Given the description of an element on the screen output the (x, y) to click on. 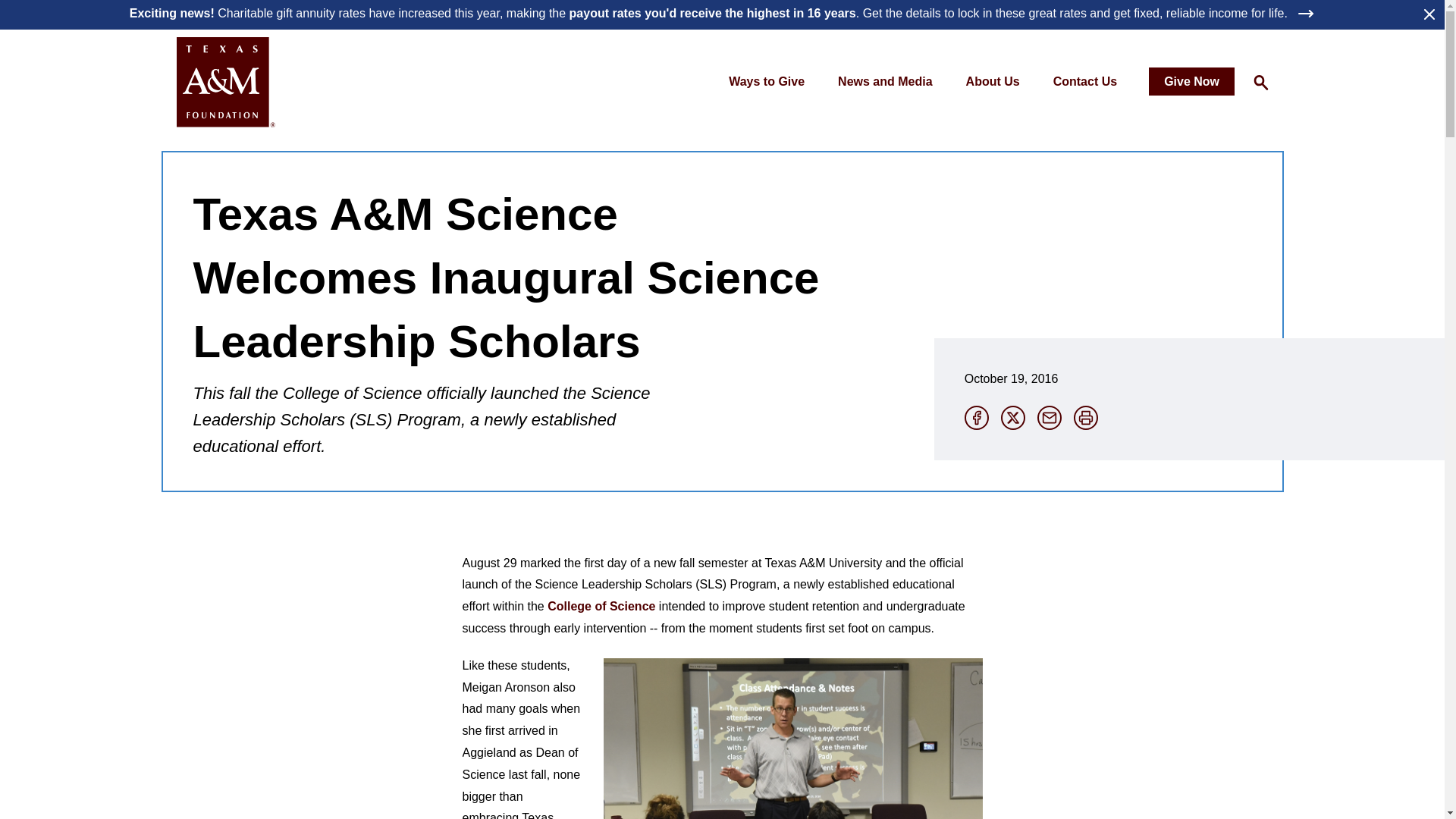
Ways to Give (766, 82)
Give Now (1191, 81)
News and Media (885, 82)
College of Science (601, 605)
Contact Us (1085, 82)
About Us (992, 82)
